Given the description of an element on the screen output the (x, y) to click on. 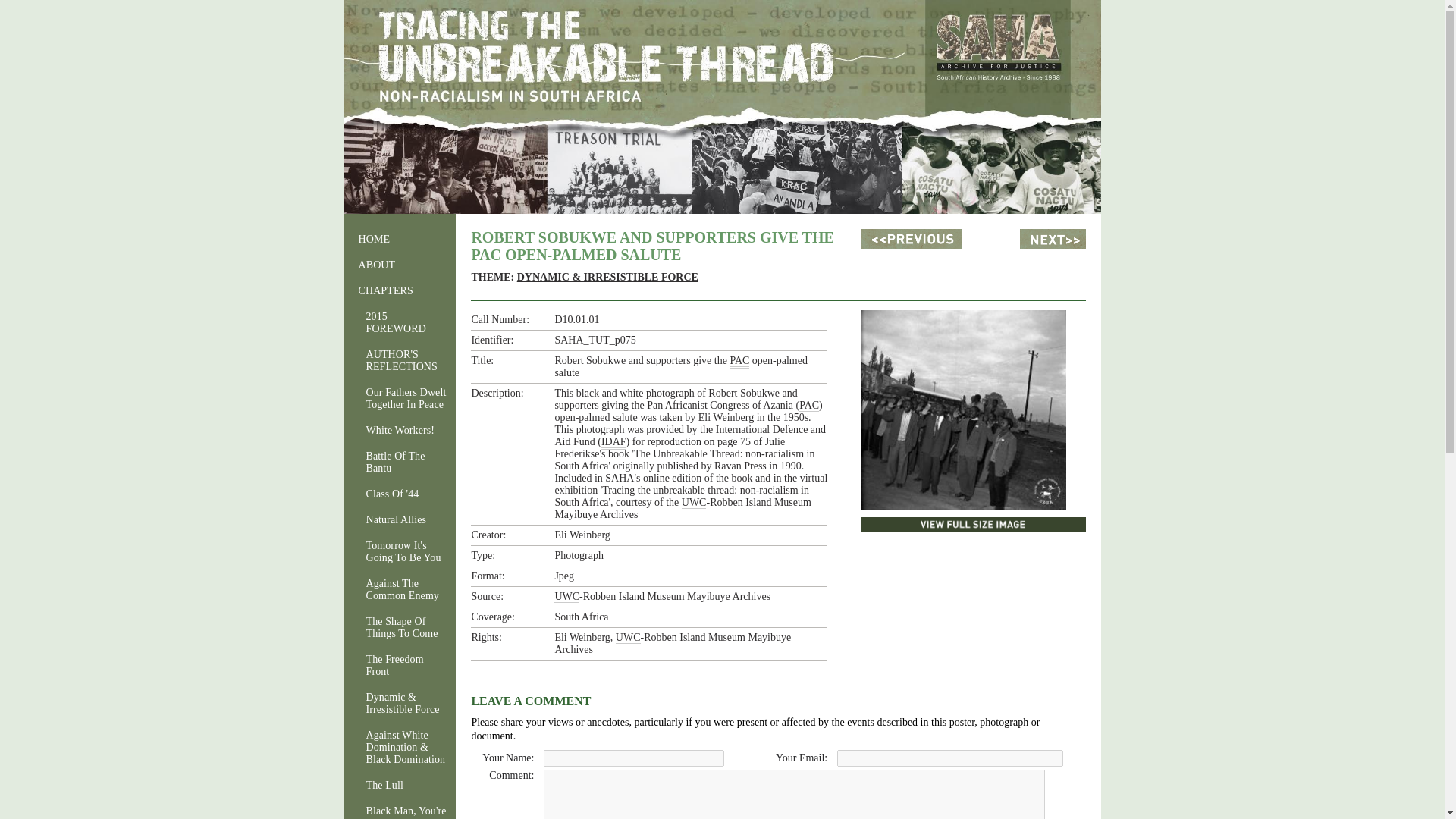
2015 FOREWORD (395, 322)
CHAPTERS (395, 291)
Class Of '44 (395, 494)
HOME (395, 239)
The Shape Of Things To Come (395, 627)
Tomorrow It'S Going To Be You (395, 551)
Battle Of The Bantu (395, 462)
Against The Common Enemy (395, 589)
White Workers! (395, 430)
Natural Allies (395, 519)
Black Man, You'Re On Your Own (395, 809)
Back to THE FREEDOM CHARTER (911, 239)
The Lull (395, 785)
ABOUT (395, 265)
